Given the description of an element on the screen output the (x, y) to click on. 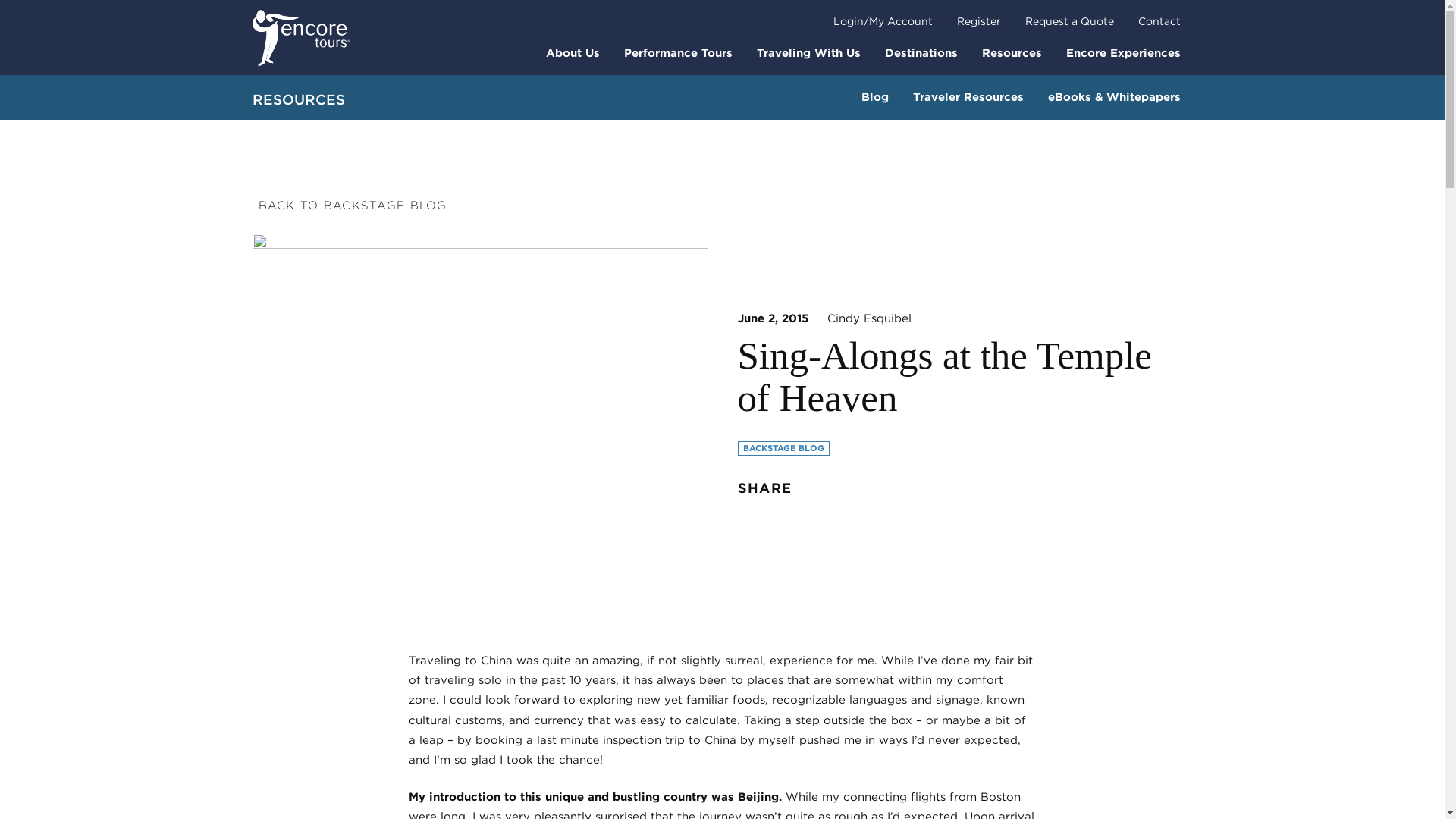
About Us (572, 52)
Contact (1158, 20)
Encore Experiences (1123, 52)
Performance Tours (677, 52)
Performance Tours (677, 52)
Traveling With Us (808, 52)
Resources (1010, 52)
Destinations (920, 52)
Traveling With Us (808, 52)
About Us (572, 52)
